Given the description of an element on the screen output the (x, y) to click on. 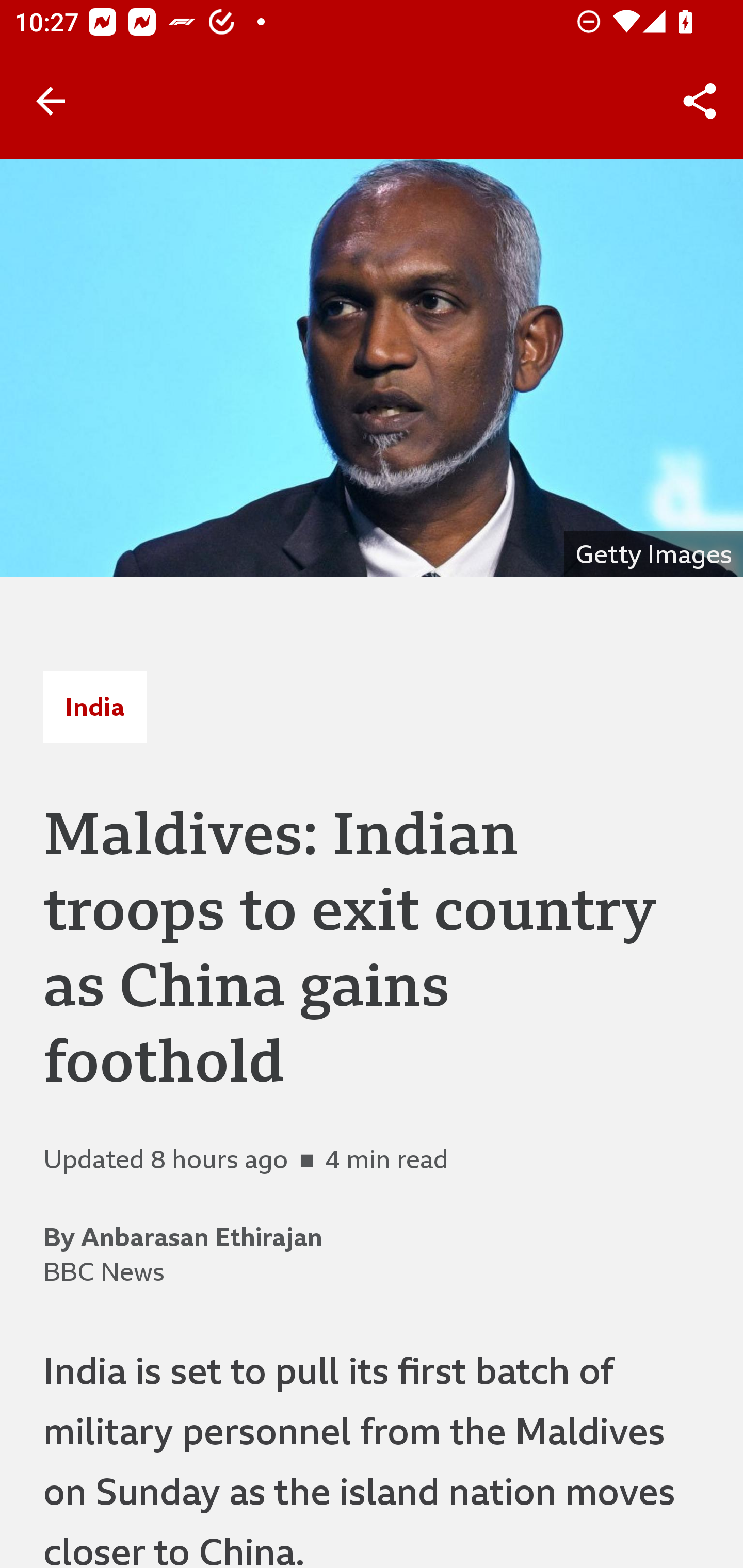
Back (50, 101)
Share (699, 101)
India (94, 706)
